Given the description of an element on the screen output the (x, y) to click on. 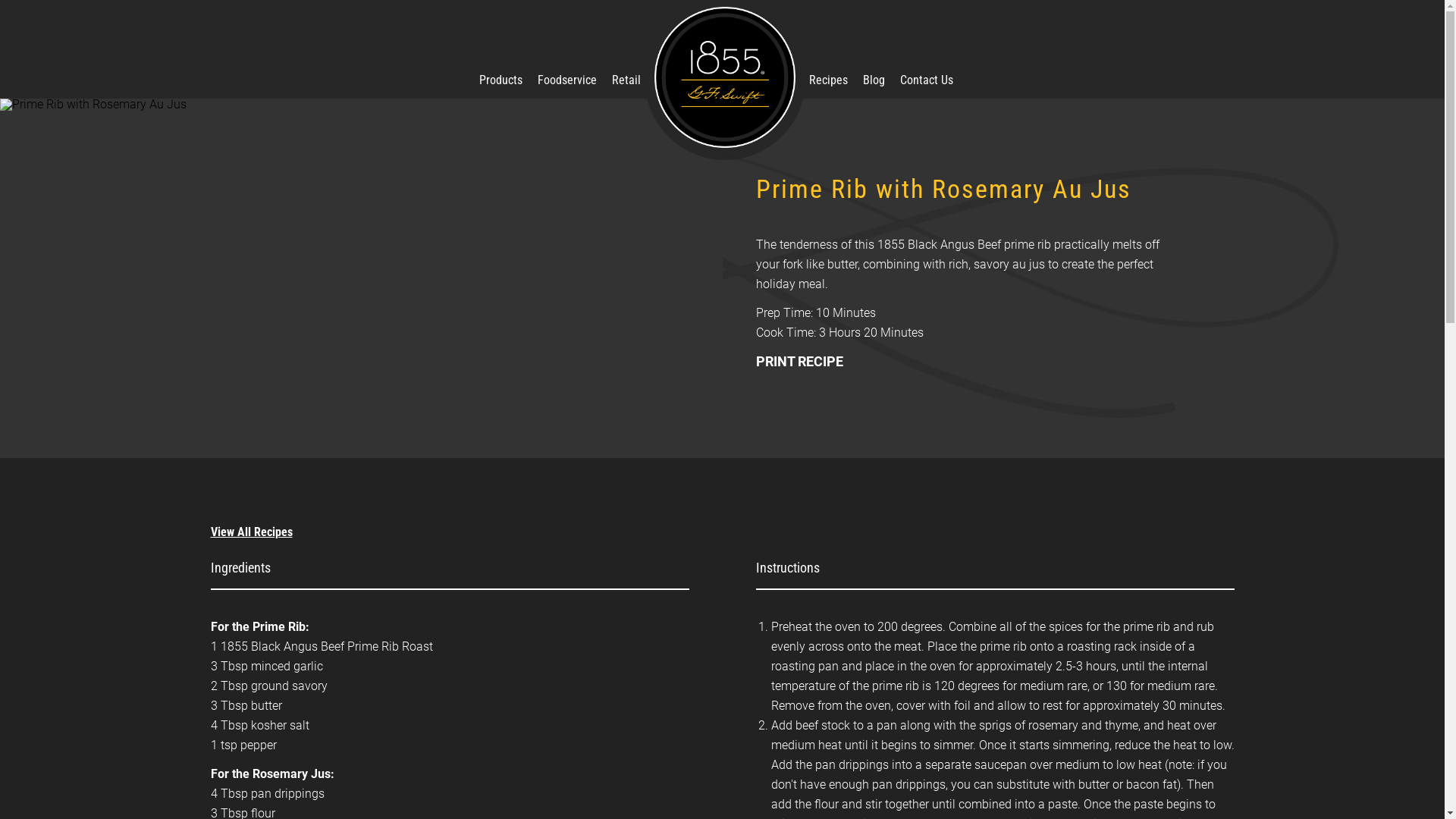
Products Element type: text (500, 79)
Blog Element type: text (873, 79)
Home Element type: text (723, 76)
PRINT RECIPE Element type: text (798, 361)
Foodservice Element type: text (566, 79)
Recipes Element type: text (827, 79)
View All Recipes Element type: text (251, 531)
Retail Element type: text (625, 79)
Contact Us Element type: text (925, 79)
